Given the description of an element on the screen output the (x, y) to click on. 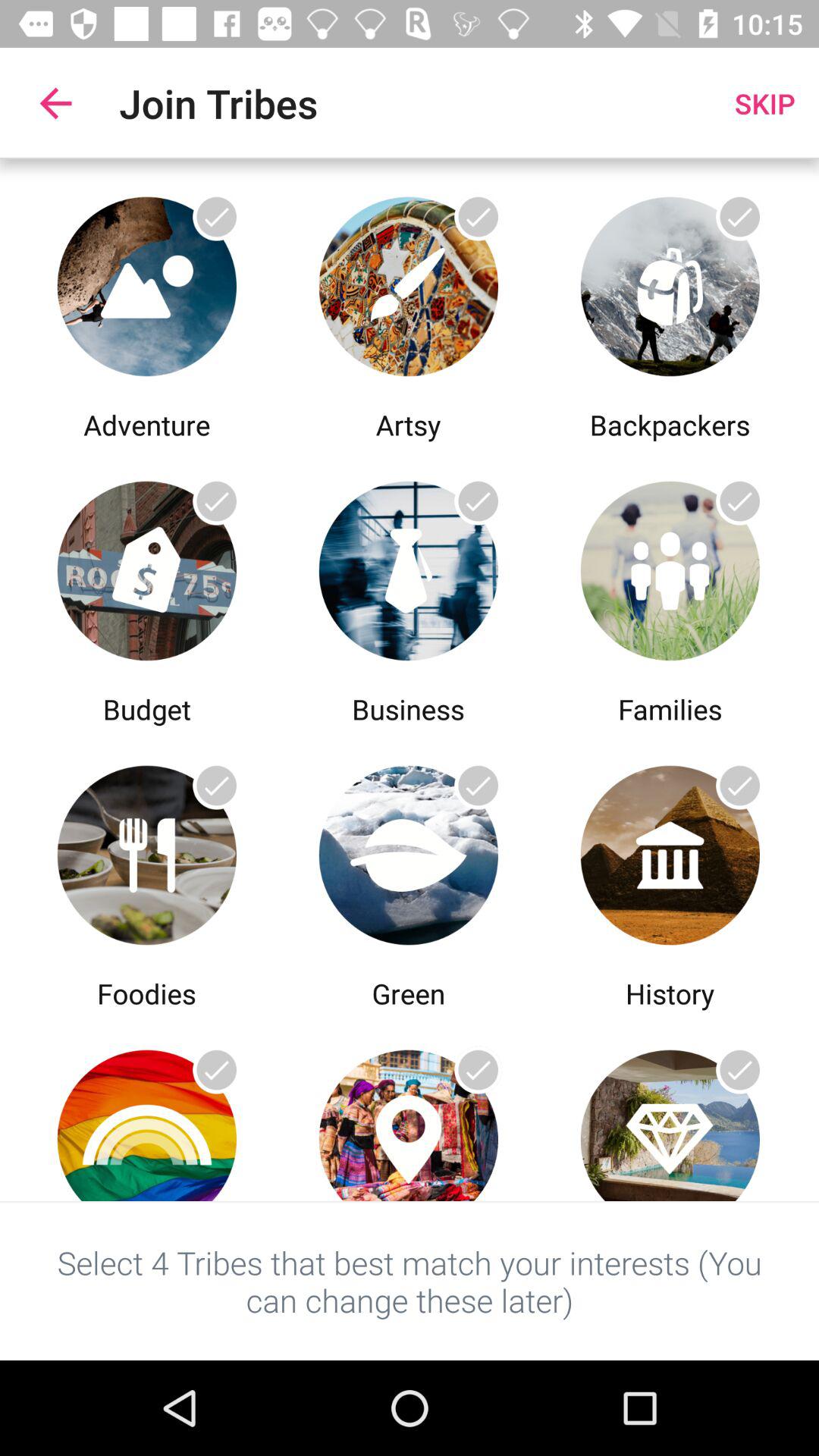
join group (408, 282)
